Given the description of an element on the screen output the (x, y) to click on. 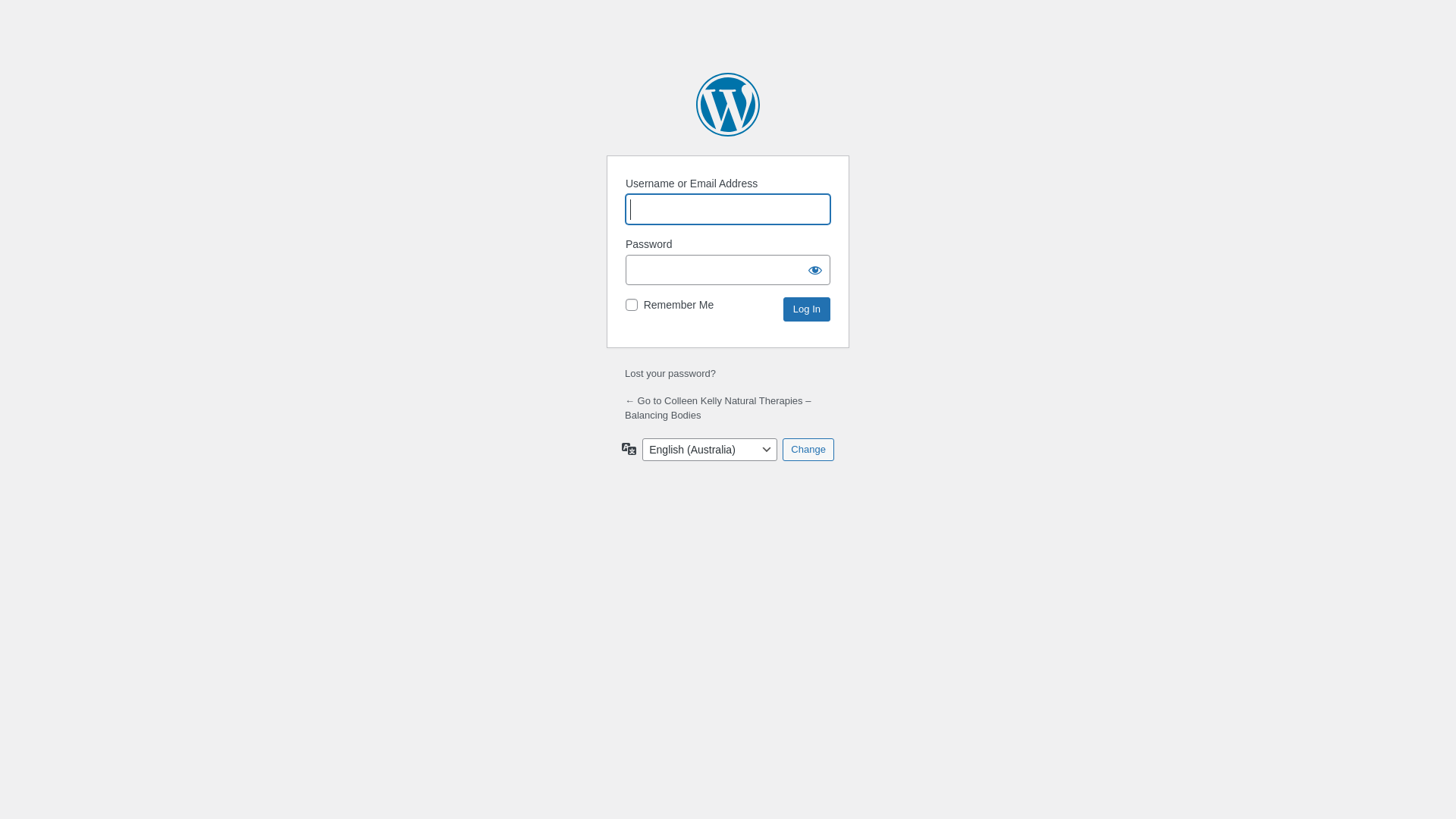
Lost your password? Element type: text (669, 373)
Change Element type: text (808, 449)
Log In Element type: text (806, 309)
Powered by WordPress Element type: text (727, 104)
